Given the description of an element on the screen output the (x, y) to click on. 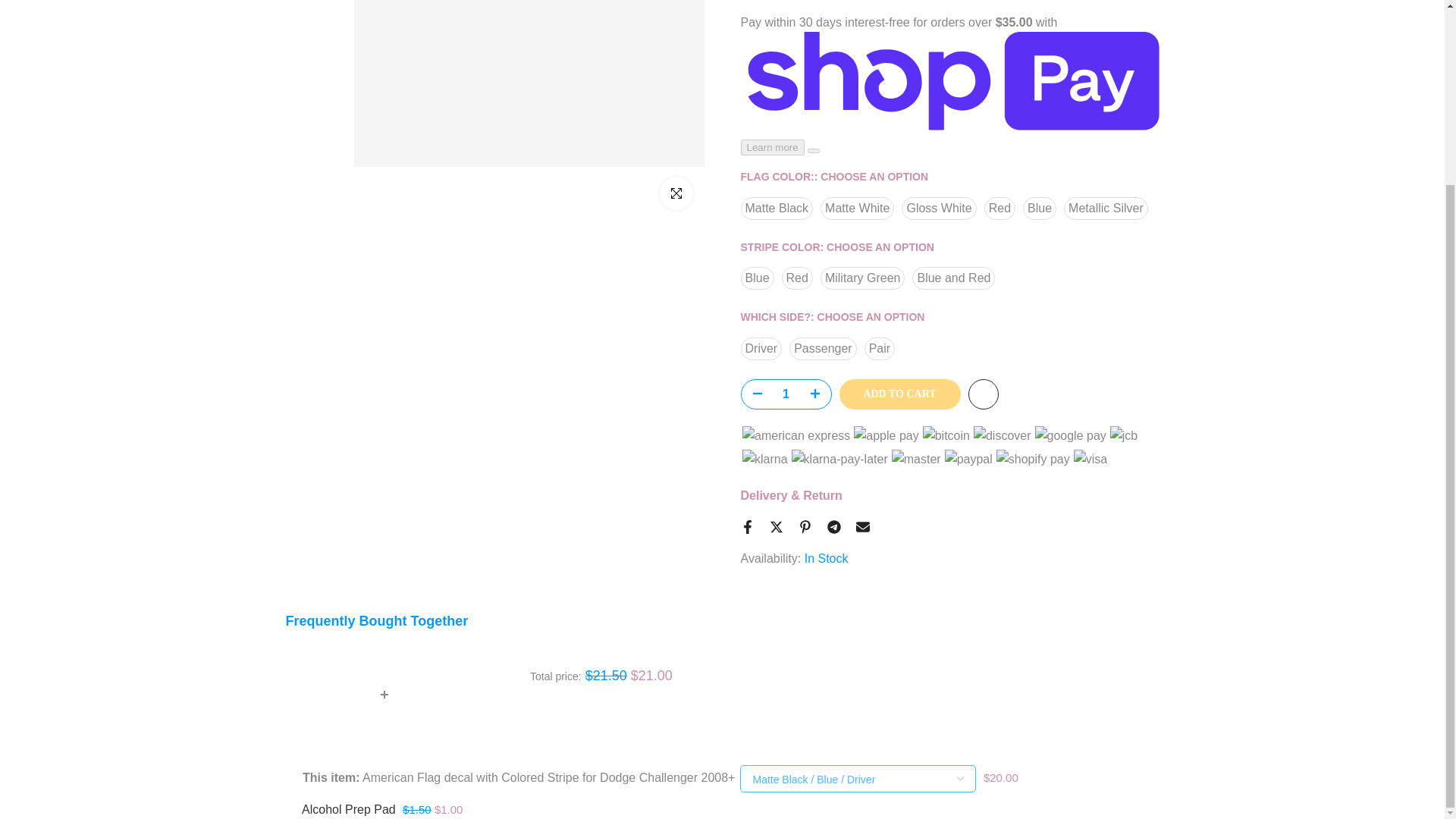
Share on Email (862, 522)
1 (786, 389)
Share on Twitter (775, 522)
Share on Telegram (833, 522)
Share on Pinterest (803, 522)
Share on Facebook (746, 522)
